Given the description of an element on the screen output the (x, y) to click on. 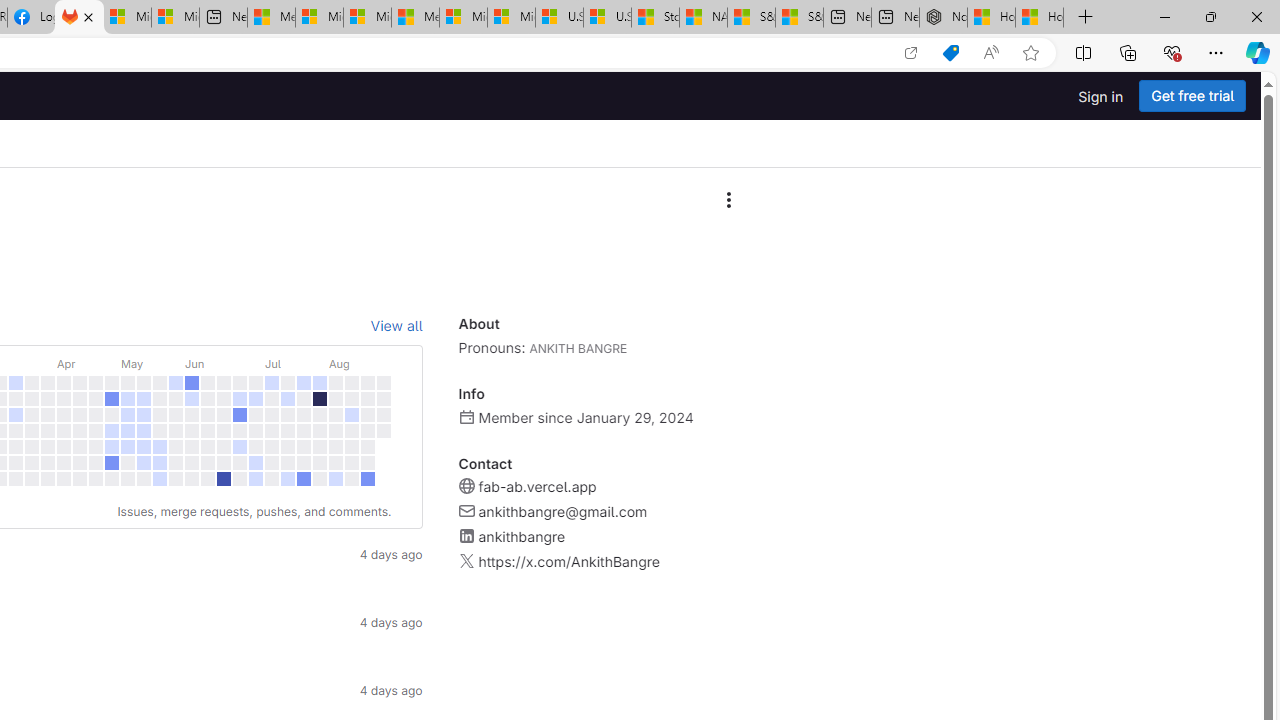
ankithbangre (521, 536)
Restore (1210, 16)
